Given the description of an element on the screen output the (x, y) to click on. 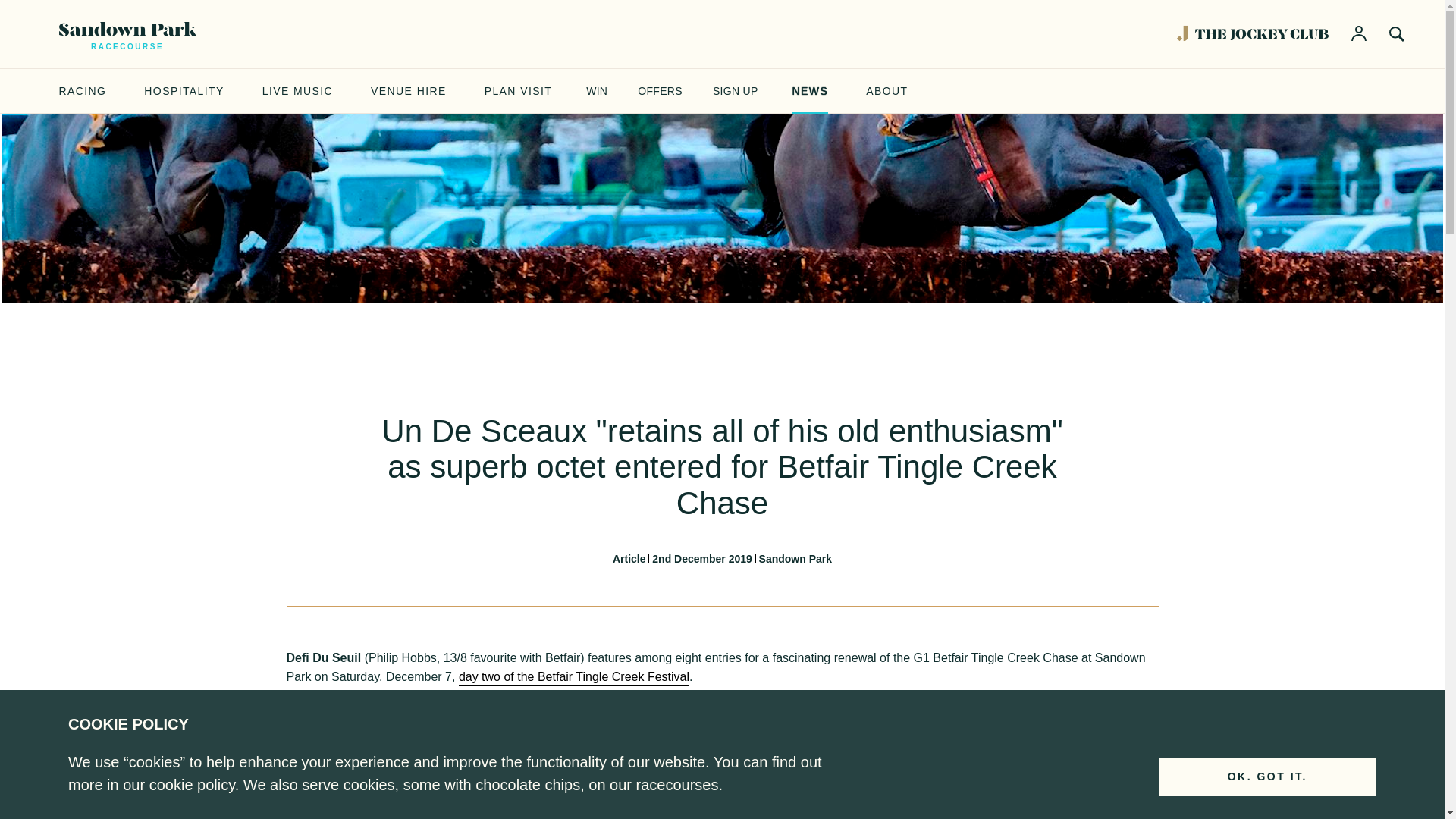
RACING (82, 90)
RACECOURSE (127, 33)
HOSPITALITY (184, 90)
